Given the description of an element on the screen output the (x, y) to click on. 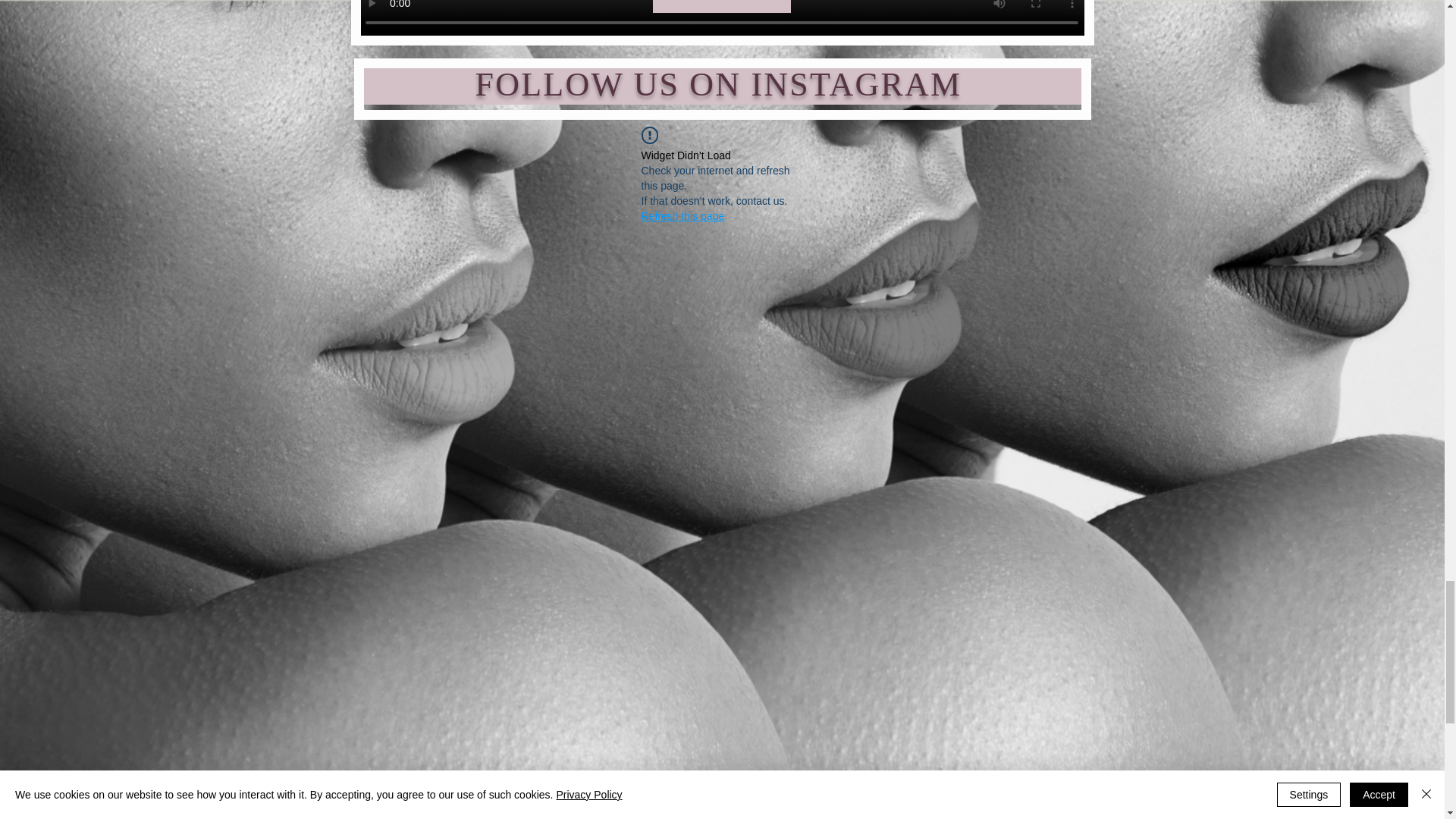
SHOP NOW (721, 6)
Refresh this page (683, 215)
